Given the description of an element on the screen output the (x, y) to click on. 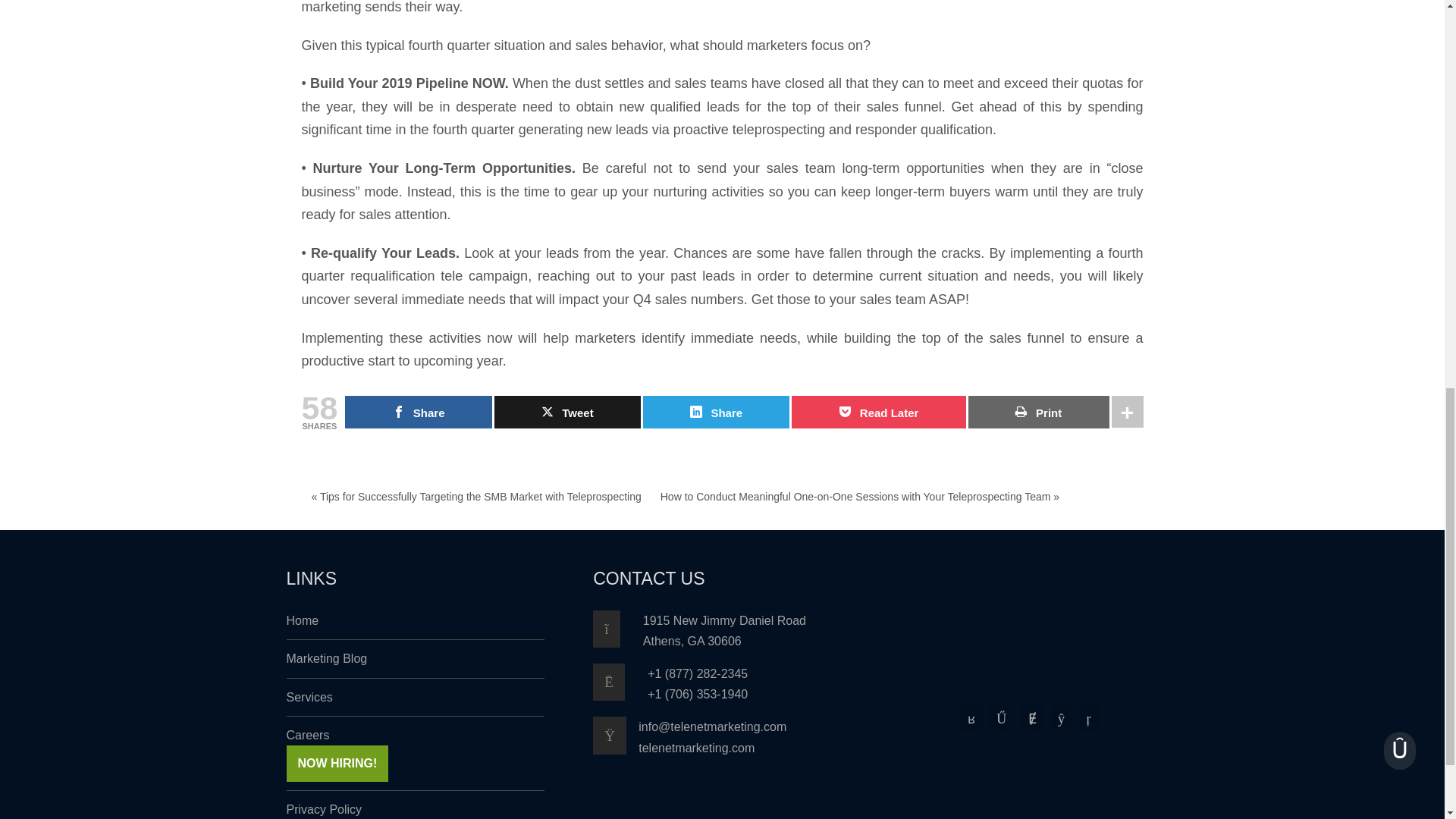
TeleNet on the map. (617, 628)
Call TeleNet (619, 682)
